Given the description of an element on the screen output the (x, y) to click on. 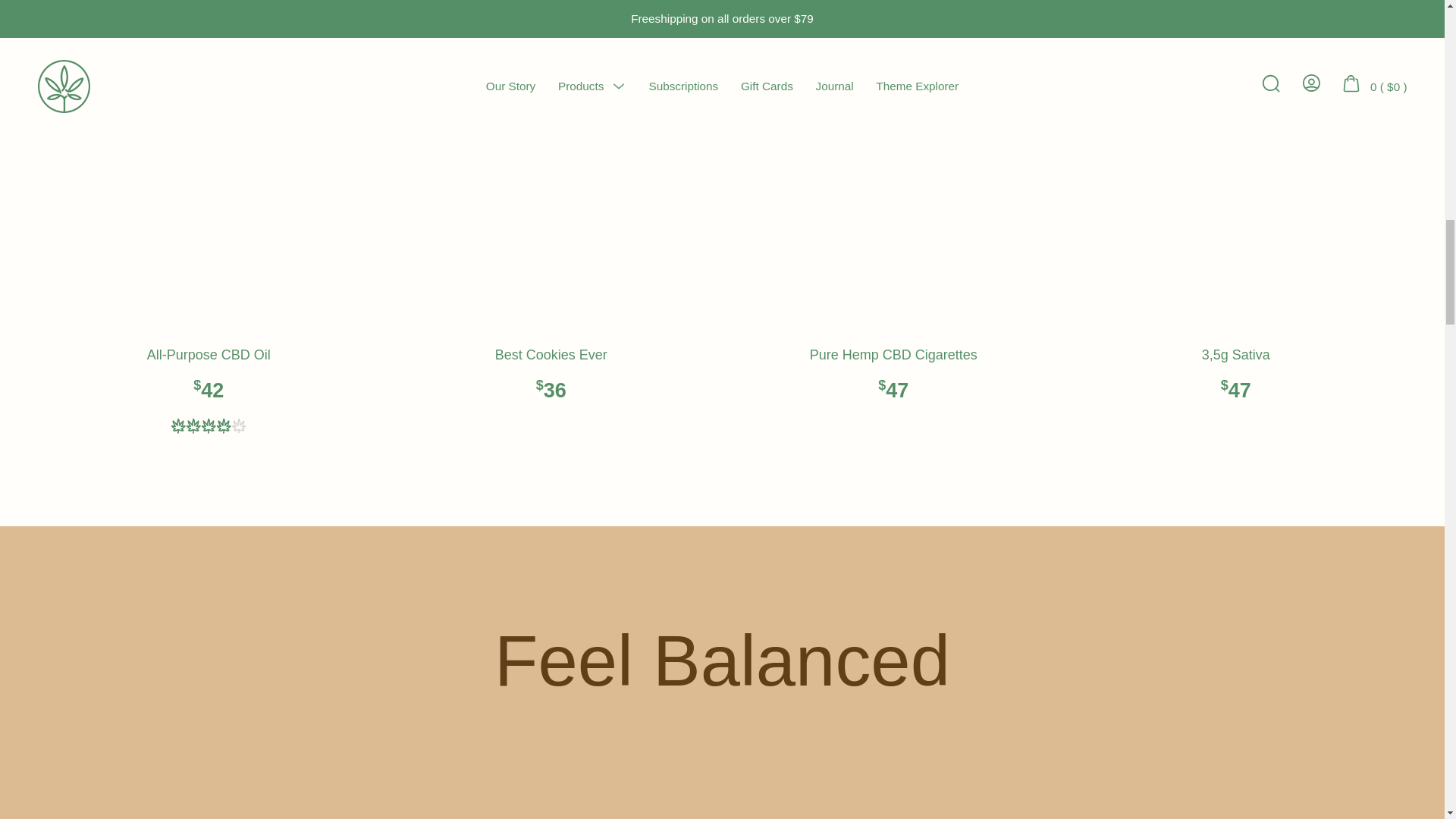
All-Purpose CBD Oil (208, 214)
Best Cookies Ever (550, 214)
